Given the description of an element on the screen output the (x, y) to click on. 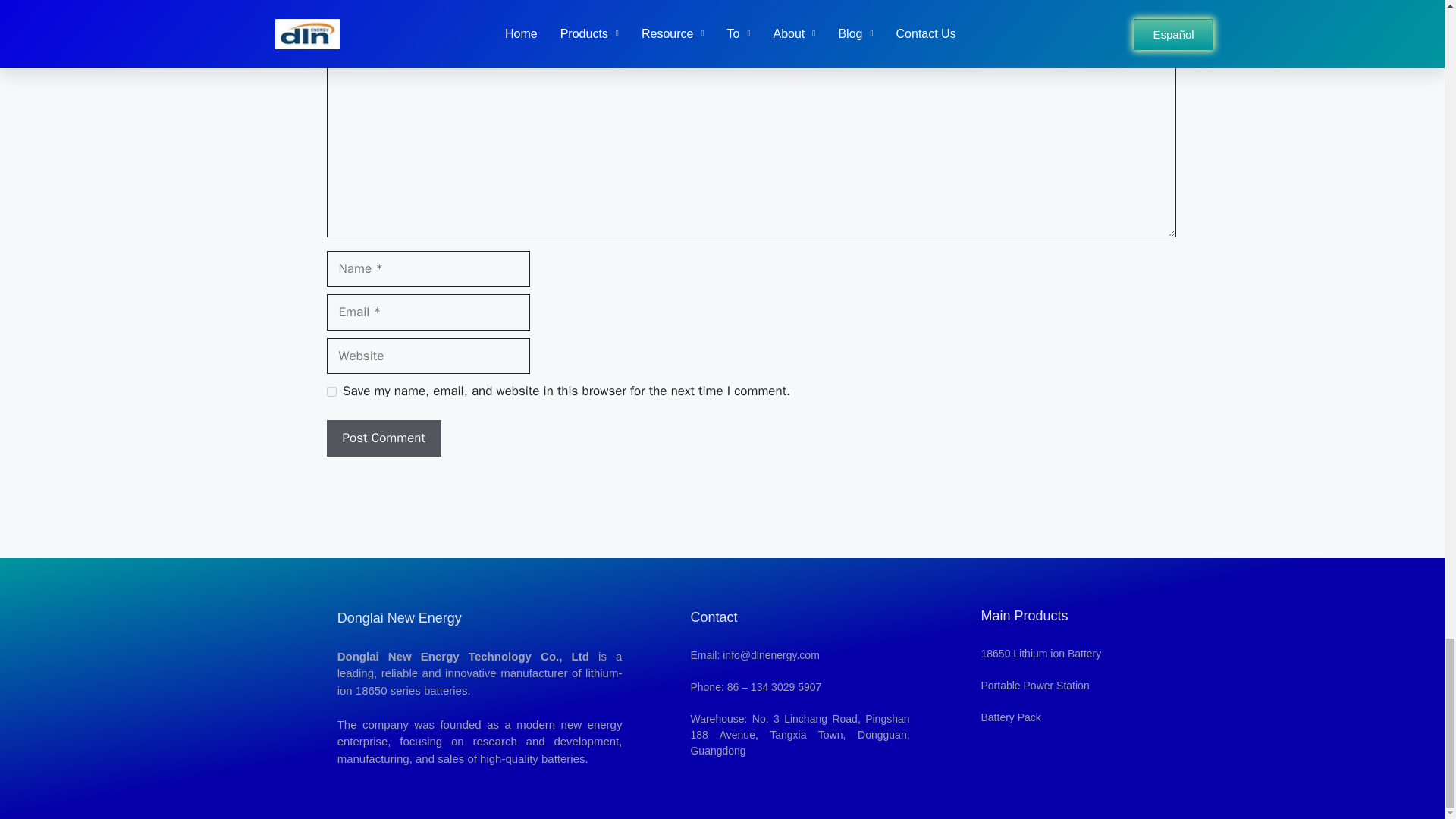
Post Comment (383, 438)
yes (331, 391)
